Given the description of an element on the screen output the (x, y) to click on. 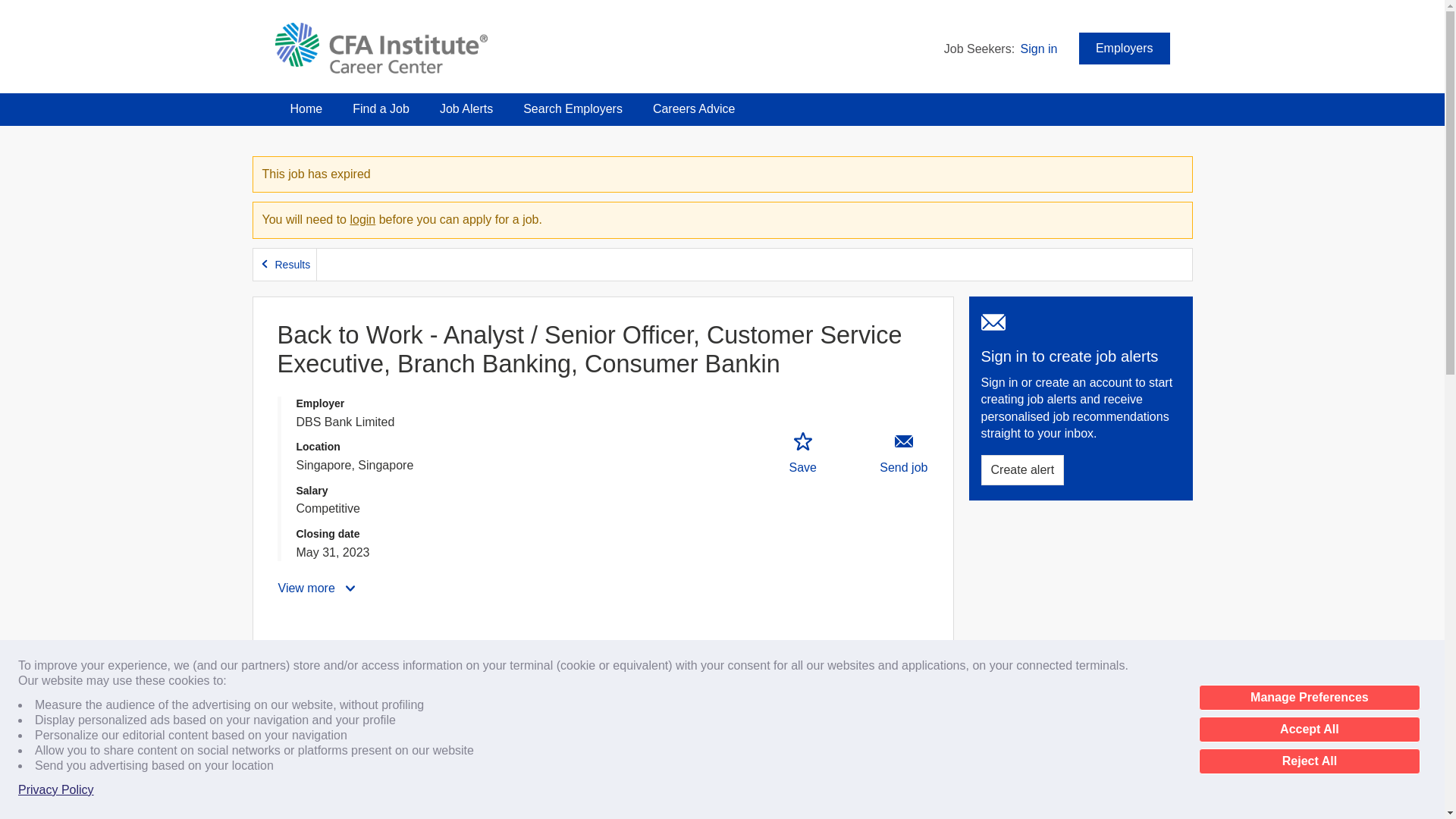
CFA Institute Career Center (380, 47)
Home (306, 109)
Find a Job (381, 109)
Accept All (1309, 729)
Reject All (1309, 760)
Search Employers (572, 109)
Employers (1124, 48)
Results (285, 264)
Privacy Policy (55, 789)
Manage Preferences (1309, 697)
Job Alerts (466, 109)
Sign in (1038, 48)
Careers Advice (694, 109)
View more (318, 588)
Create alert (1022, 470)
